Given the description of an element on the screen output the (x, y) to click on. 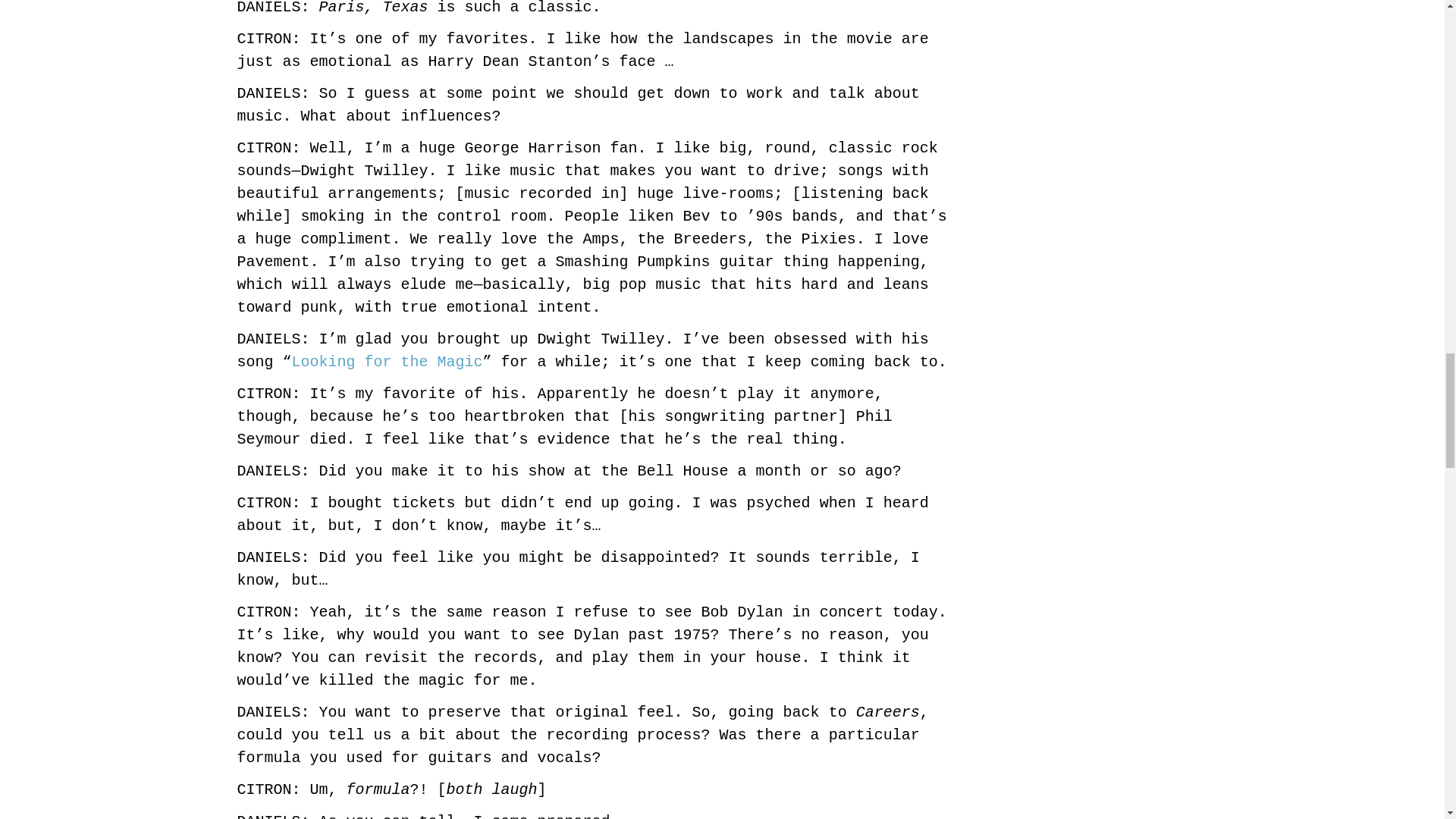
Looking for the Magic (387, 361)
